Given the description of an element on the screen output the (x, y) to click on. 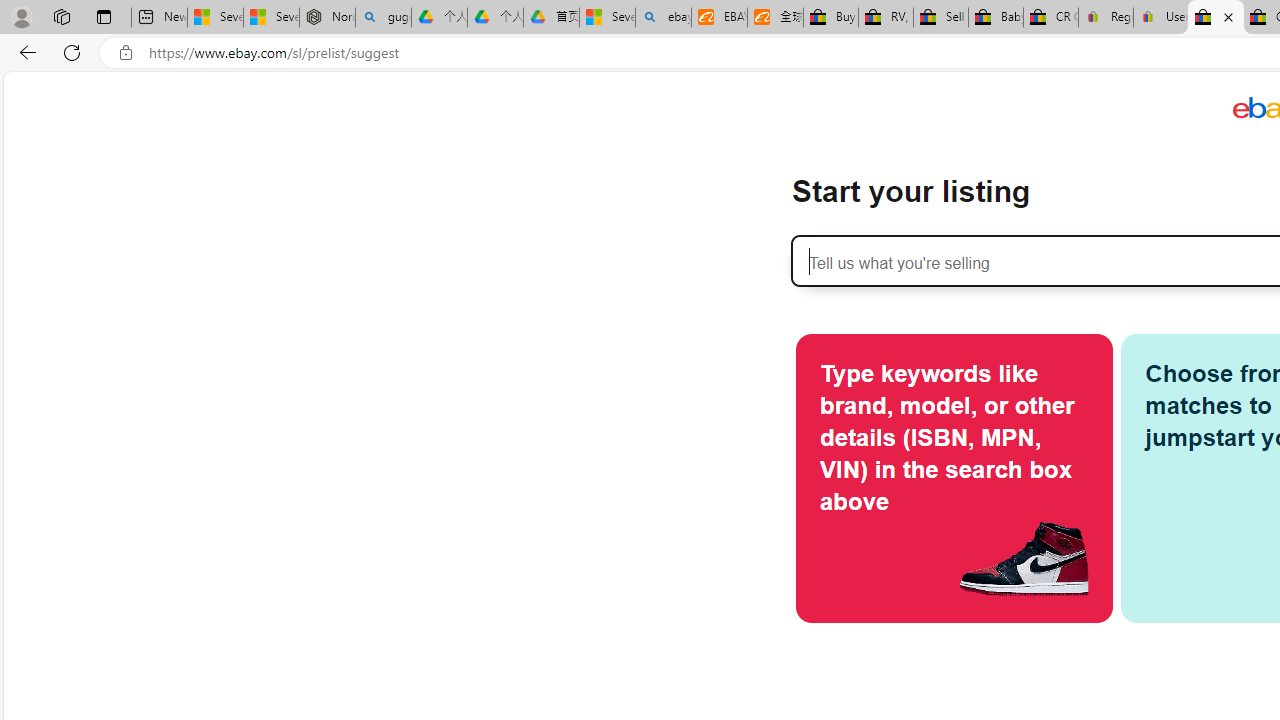
User Privacy Notice | eBay (1160, 17)
Sell worldwide with eBay (940, 17)
List an item | eBay (1215, 17)
Buy Auto Parts & Accessories | eBay (830, 17)
Baby Keepsakes & Announcements for sale | eBay (995, 17)
guge yunpan - Search (382, 17)
